Given the description of an element on the screen output the (x, y) to click on. 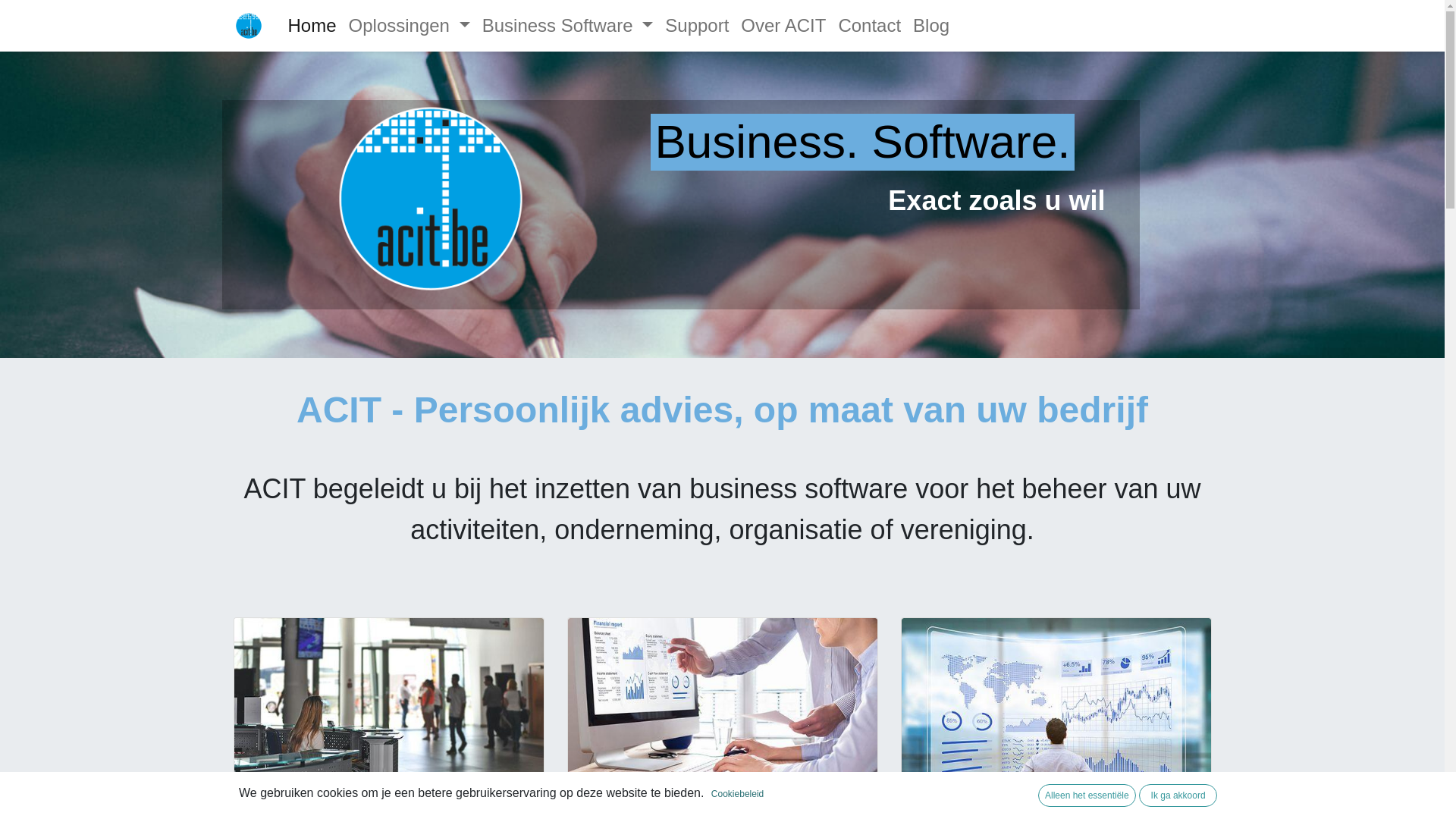
Support Element type: text (696, 25)
Home Element type: text (312, 25)
Over ACIT Element type: text (782, 25)
Cookiebeleid Element type: text (737, 793)
Oplossingen Element type: text (409, 25)
Blog Element type: text (930, 25)
Contact Element type: text (868, 25)
Business Software Element type: text (567, 25)
ACIT business software Element type: hover (248, 25)
Ik ga akkoord Element type: text (1178, 795)
